Given the description of an element on the screen output the (x, y) to click on. 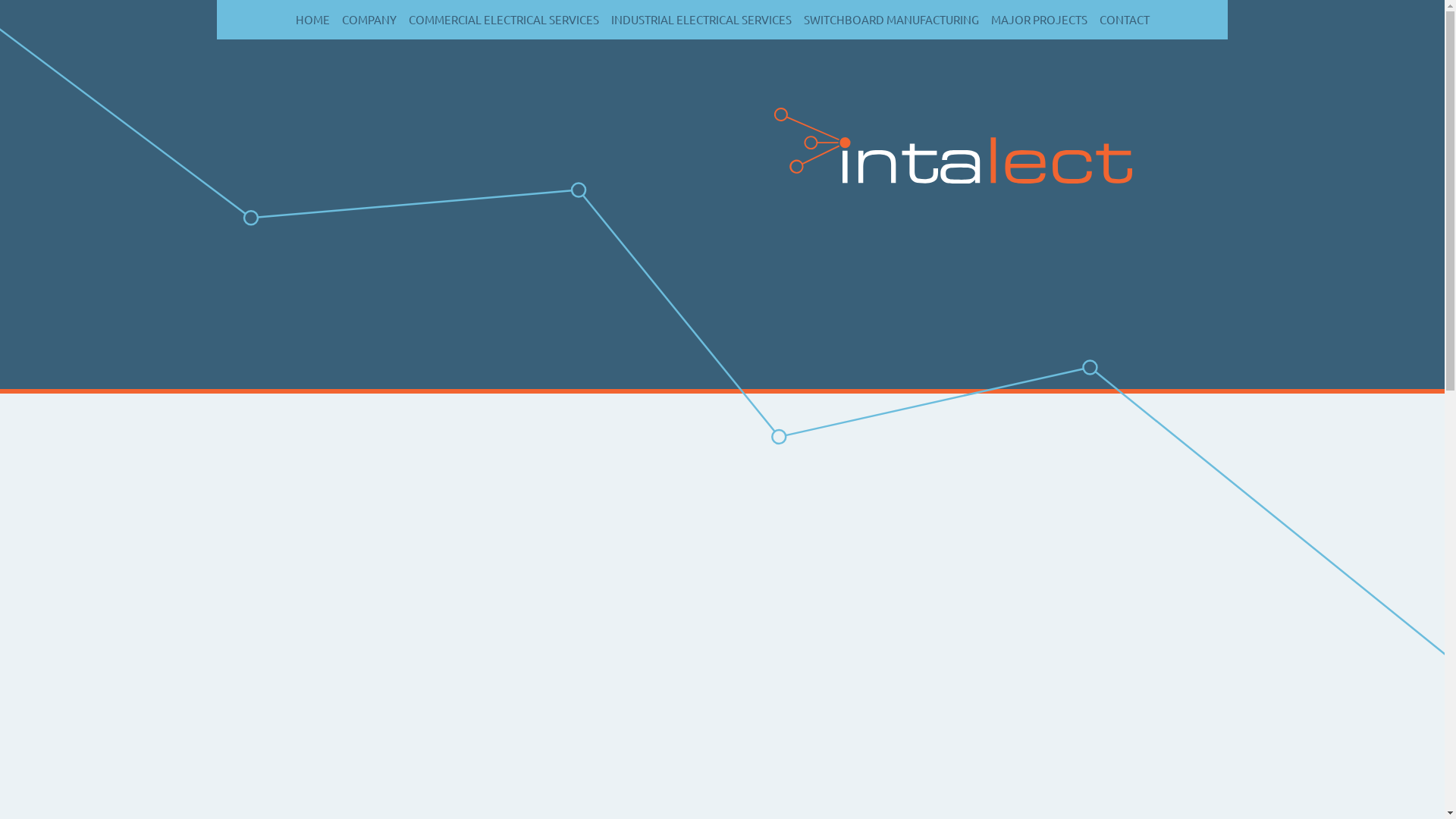
COMMERCIAL ELECTRICAL SERVICES Element type: text (502, 20)
COMPANY Element type: text (368, 20)
SWITCHBOARD MANUFACTURING Element type: text (891, 20)
HOME Element type: text (312, 20)
CONTACT Element type: text (1124, 20)
INDUSTRIAL ELECTRICAL SERVICES Element type: text (701, 20)
MAJOR PROJECTS Element type: text (1038, 20)
